Given the description of an element on the screen output the (x, y) to click on. 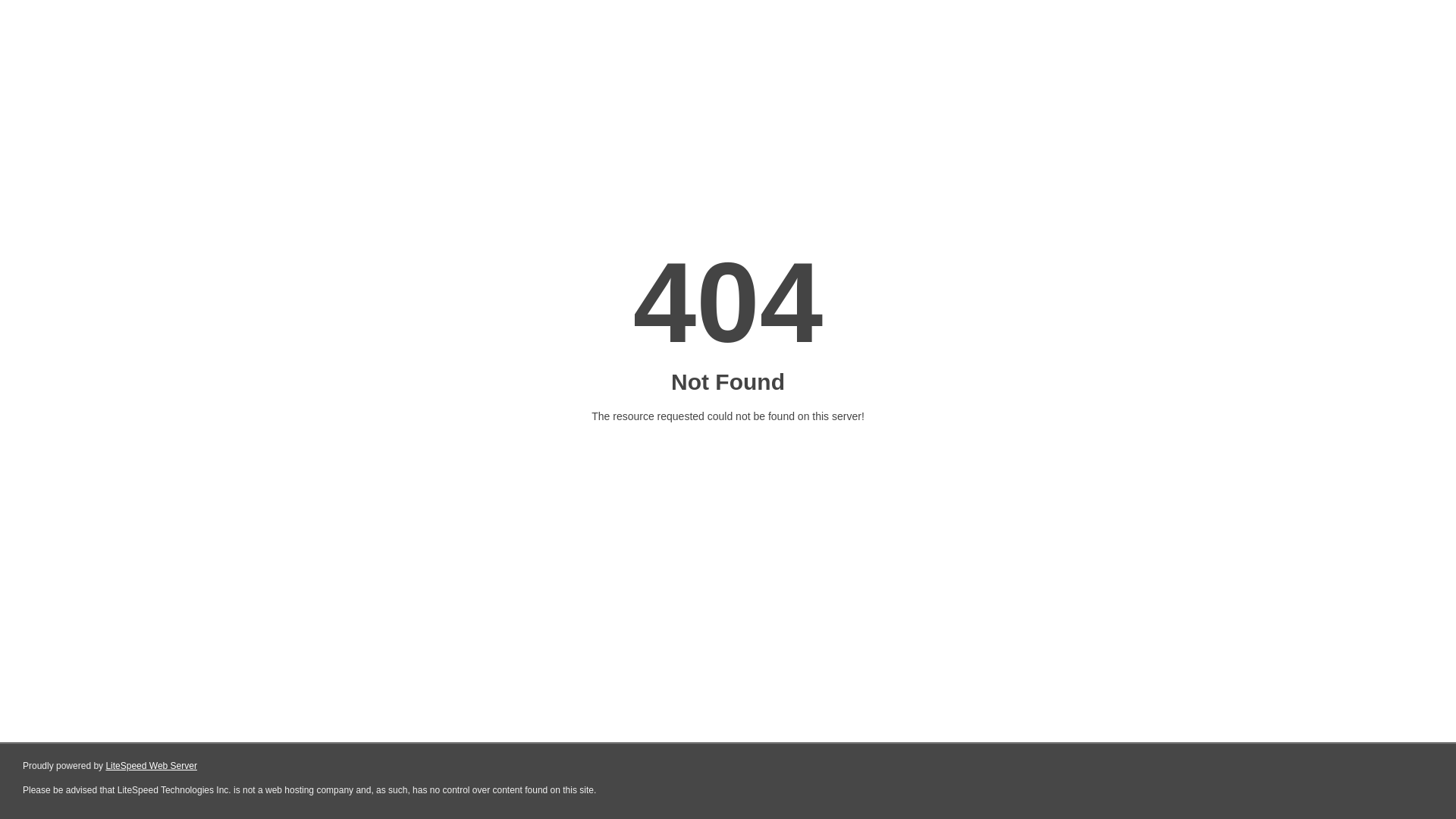
LiteSpeed Web Server Element type: text (151, 765)
